Given the description of an element on the screen output the (x, y) to click on. 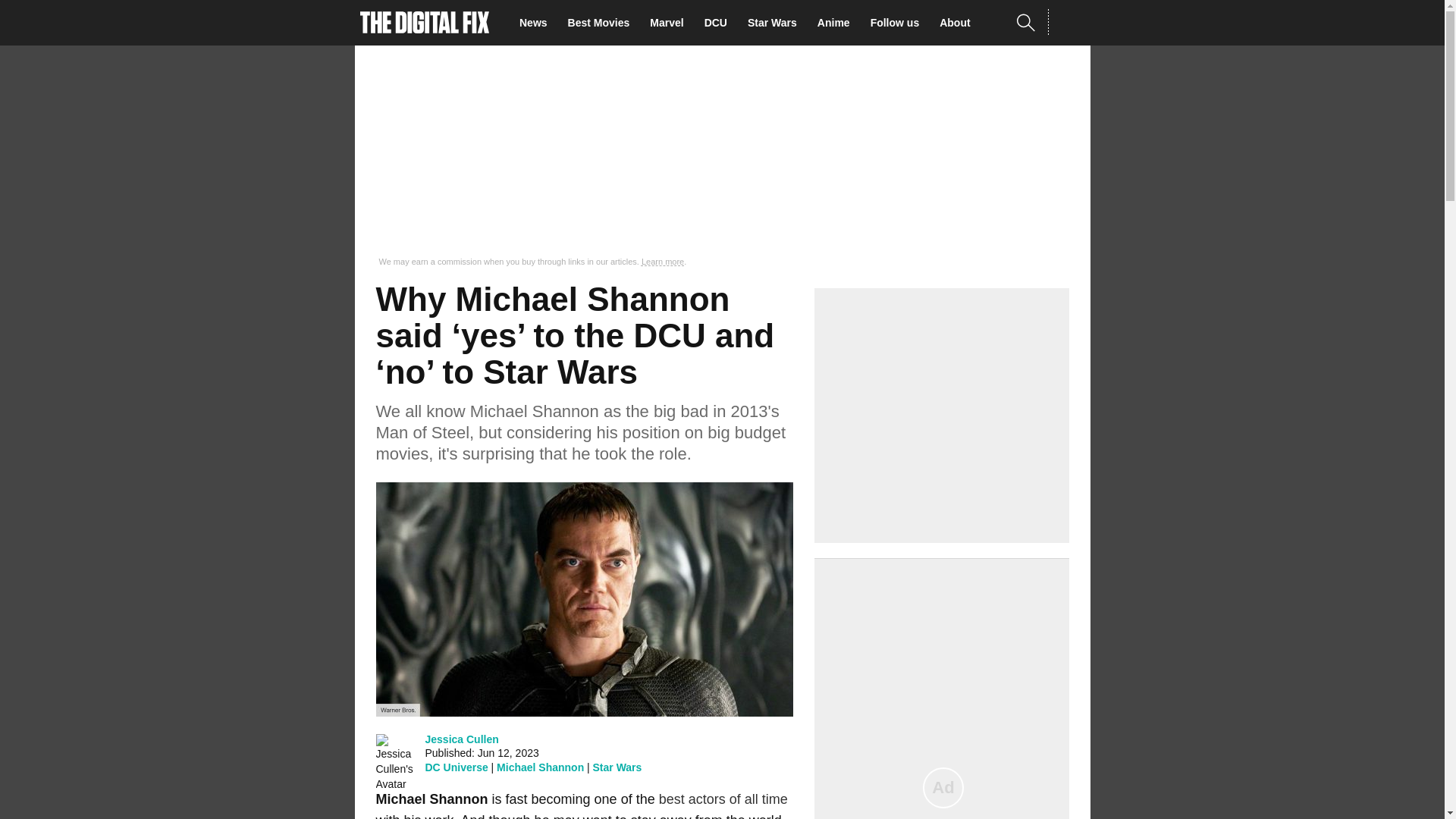
DC Universe (456, 767)
Anime (837, 22)
Best Movies (603, 22)
Jessica Cullen (461, 739)
Michael Shannon (539, 767)
Star Wars News (777, 22)
Star Wars (777, 22)
Network N Media (1068, 22)
best actors of all time (723, 798)
Anime News (837, 22)
